Given the description of an element on the screen output the (x, y) to click on. 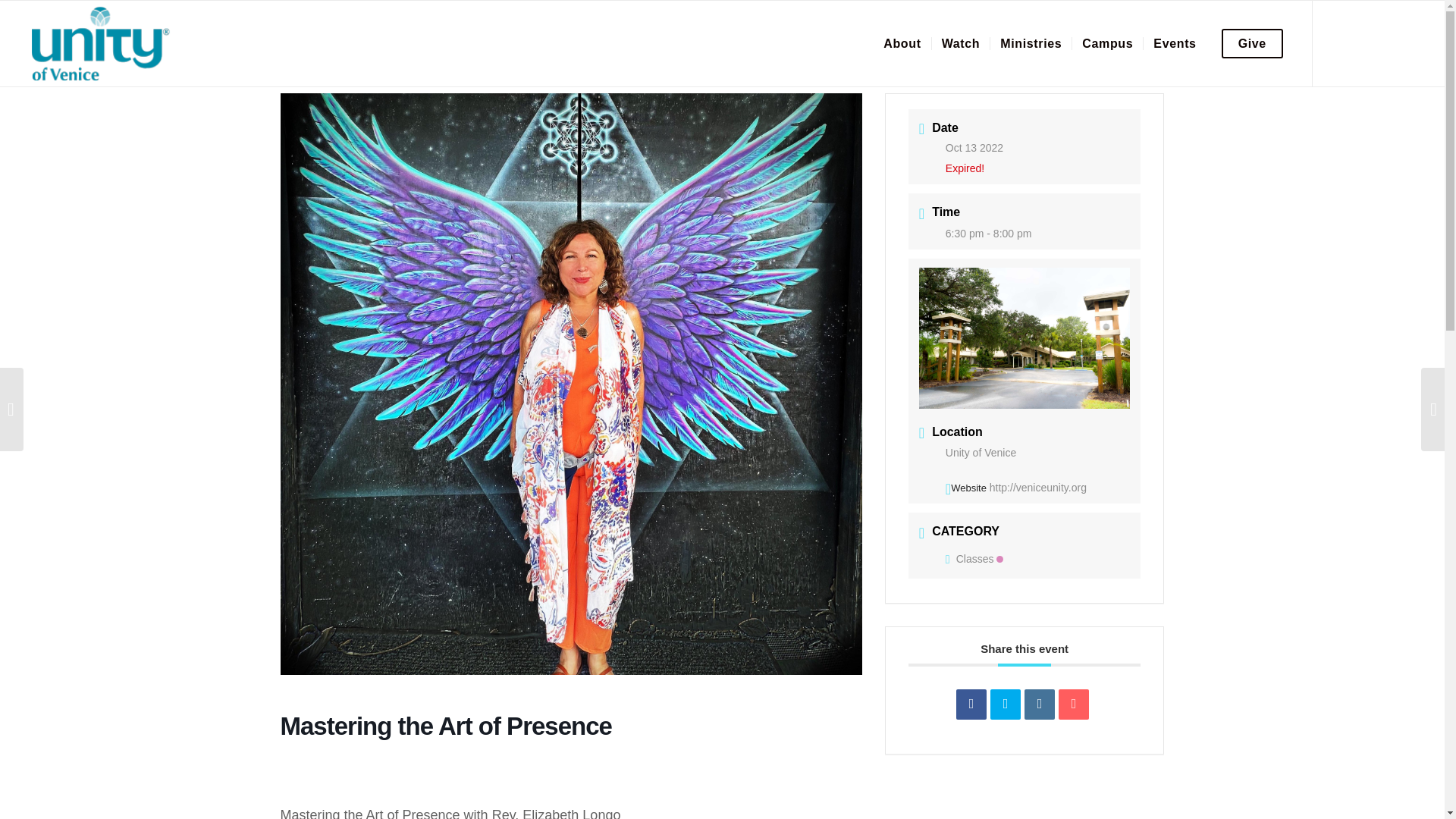
X (1374, 42)
Email (1073, 704)
Unity of Venice Logo (99, 43)
Youtube (1404, 42)
Ministries (1030, 43)
Facebook (1343, 42)
Share on Facebook (971, 704)
Classes  (974, 558)
Tweet (1005, 704)
Linkedin (1039, 704)
